Given the description of an element on the screen output the (x, y) to click on. 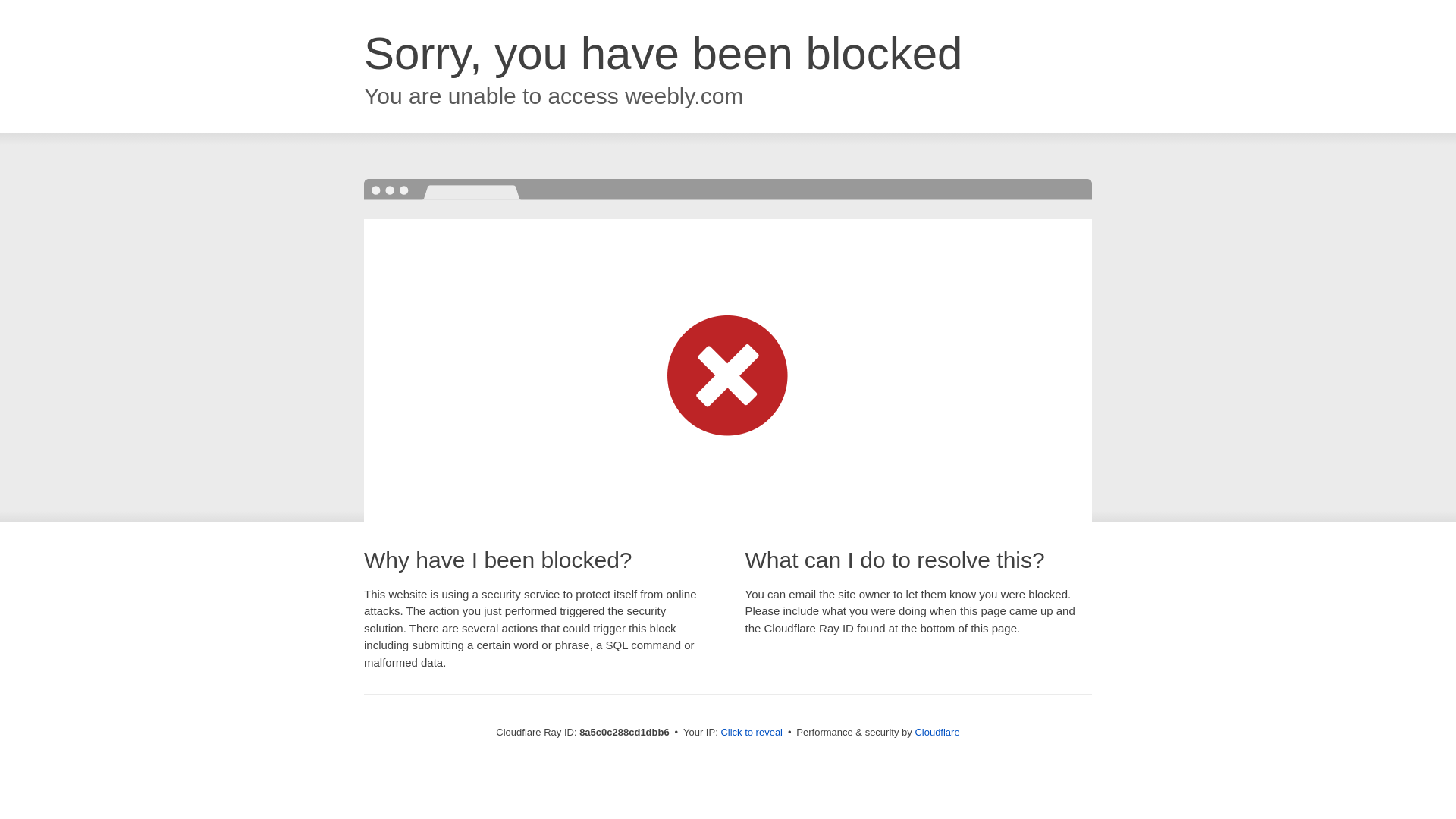
Cloudflare (936, 731)
Click to reveal (751, 732)
